Given the description of an element on the screen output the (x, y) to click on. 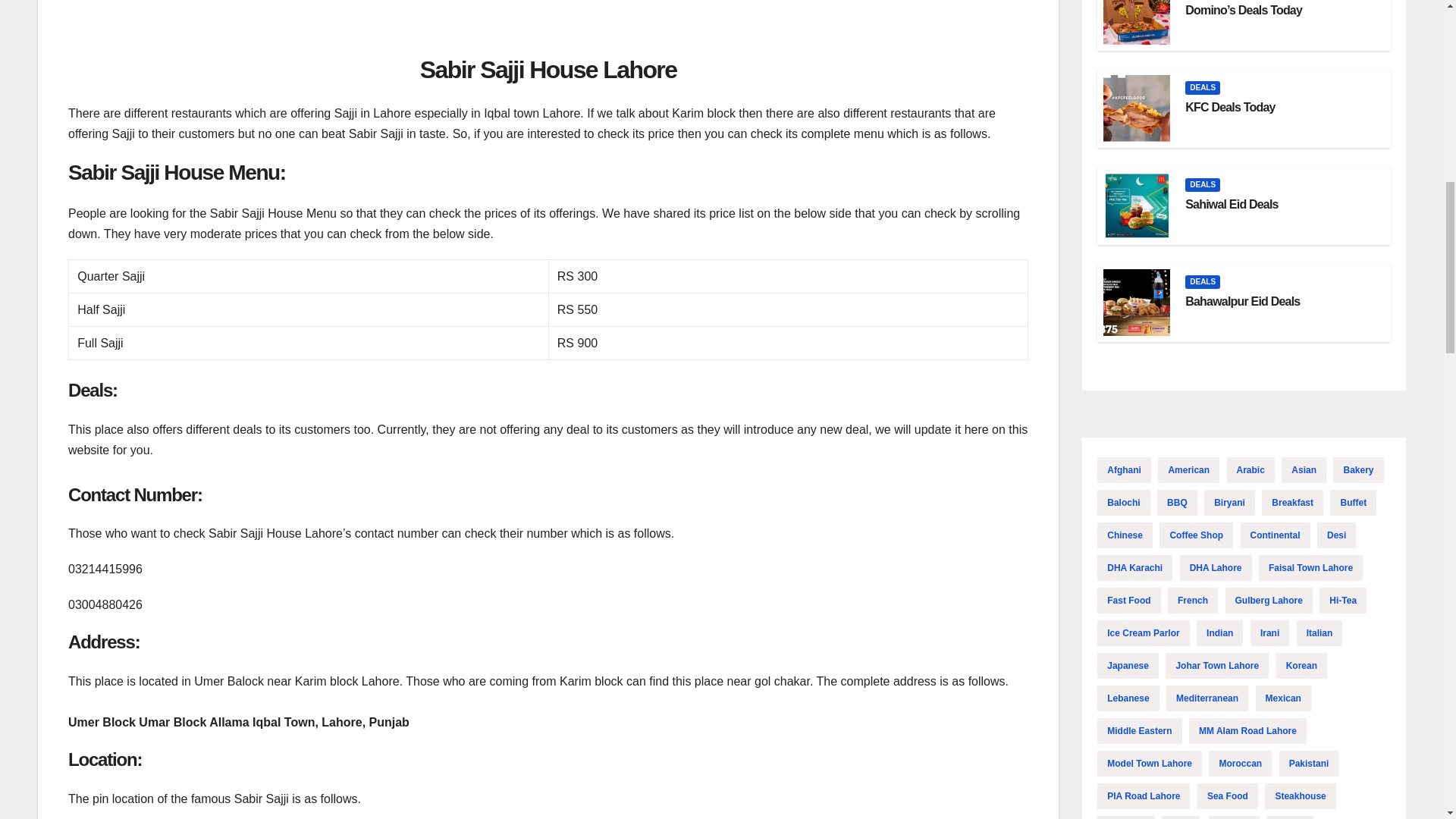
Advertisement (548, 23)
